Given the description of an element on the screen output the (x, y) to click on. 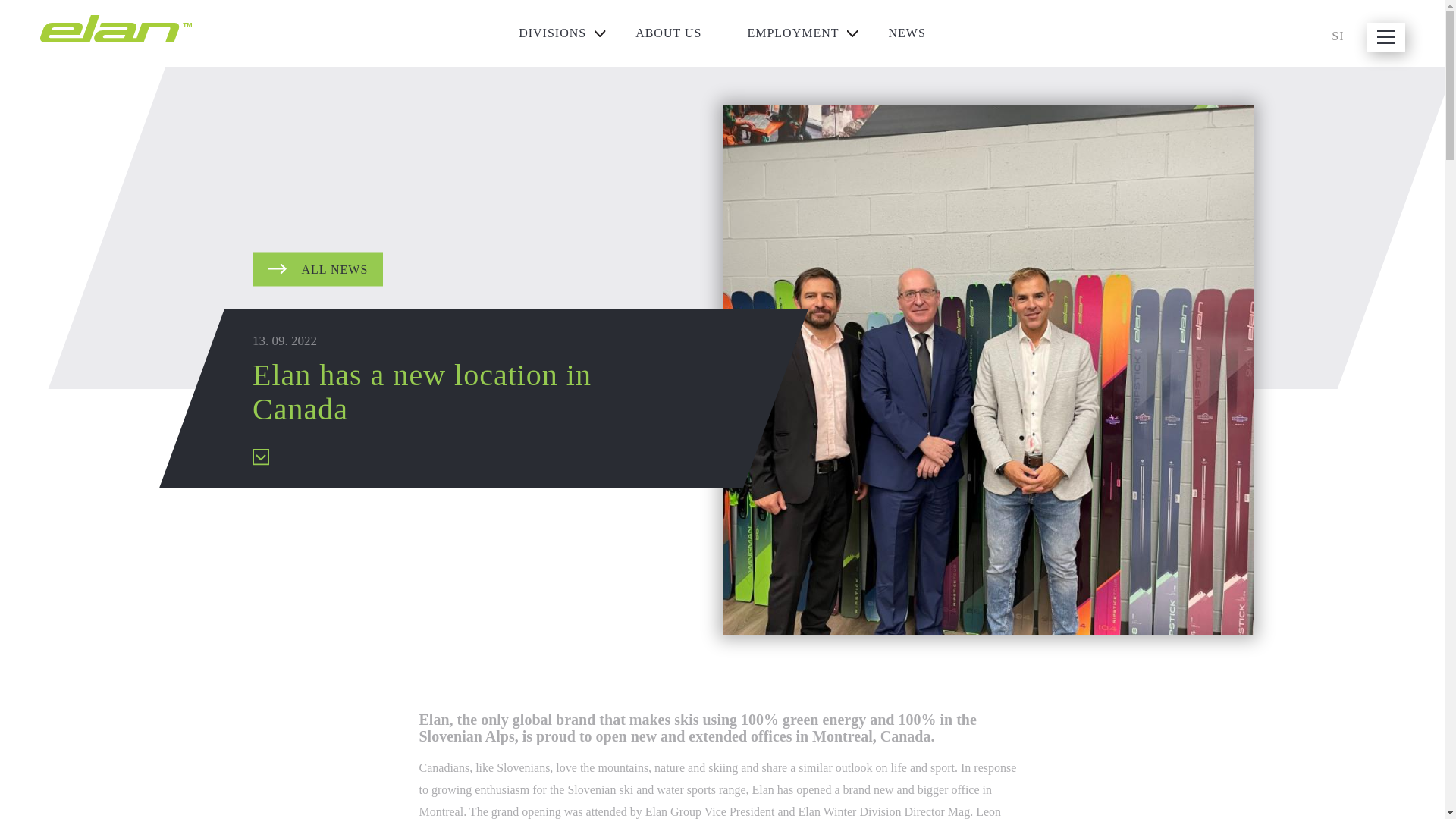
NEWS (907, 33)
ABOUT US (667, 33)
ALL NEWS (316, 268)
SI (1337, 35)
EMPLOYMENT (793, 33)
DIVISIONS (554, 33)
